Given the description of an element on the screen output the (x, y) to click on. 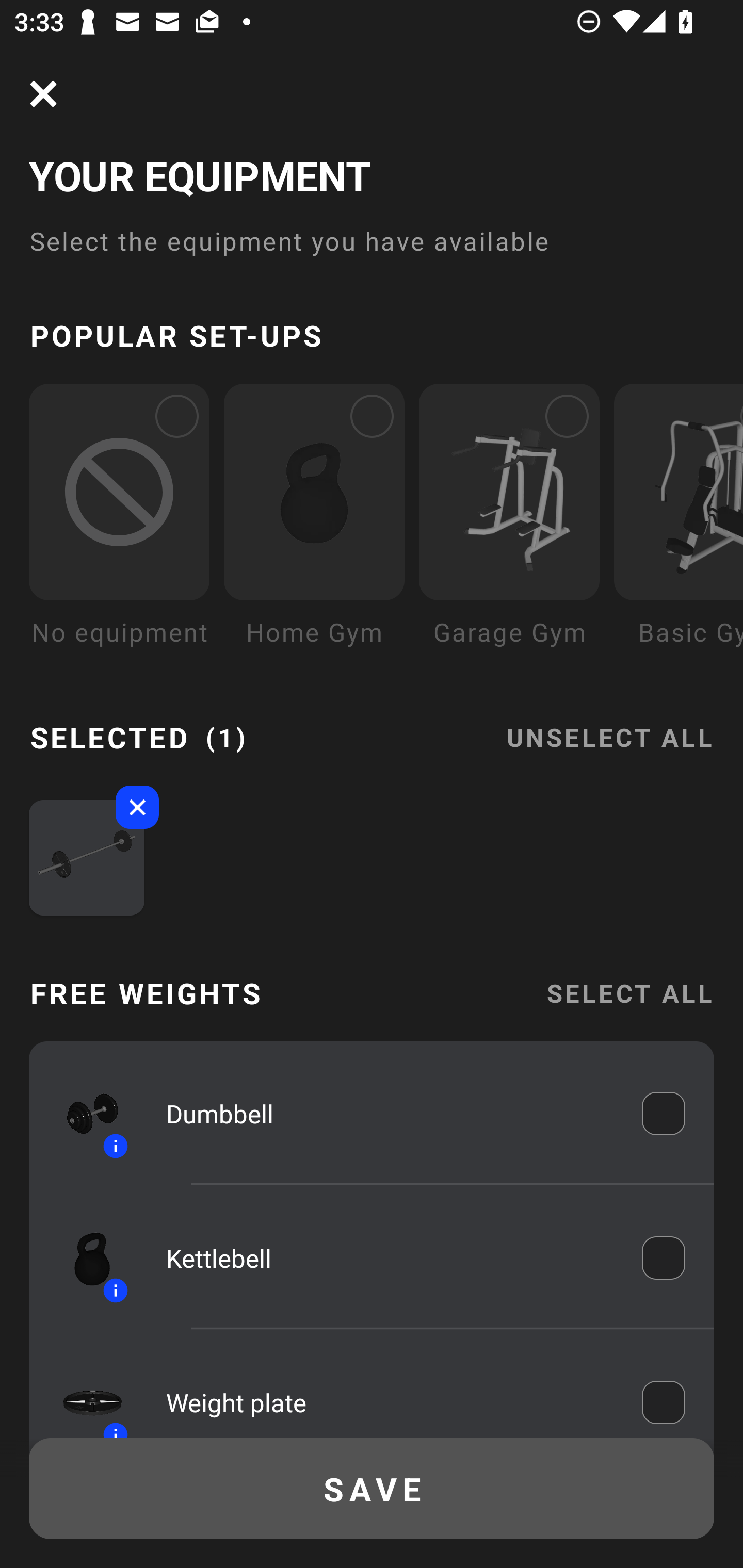
Navigation icon (43, 93)
UNSELECT ALL (609, 725)
SELECT ALL (629, 993)
Equipment icon Information icon (82, 1113)
Dumbbell (389, 1113)
Equipment icon Information icon (82, 1258)
Kettlebell (389, 1258)
Equipment icon Information icon (82, 1392)
Weight plate (389, 1398)
SAVE (371, 1488)
